Given the description of an element on the screen output the (x, y) to click on. 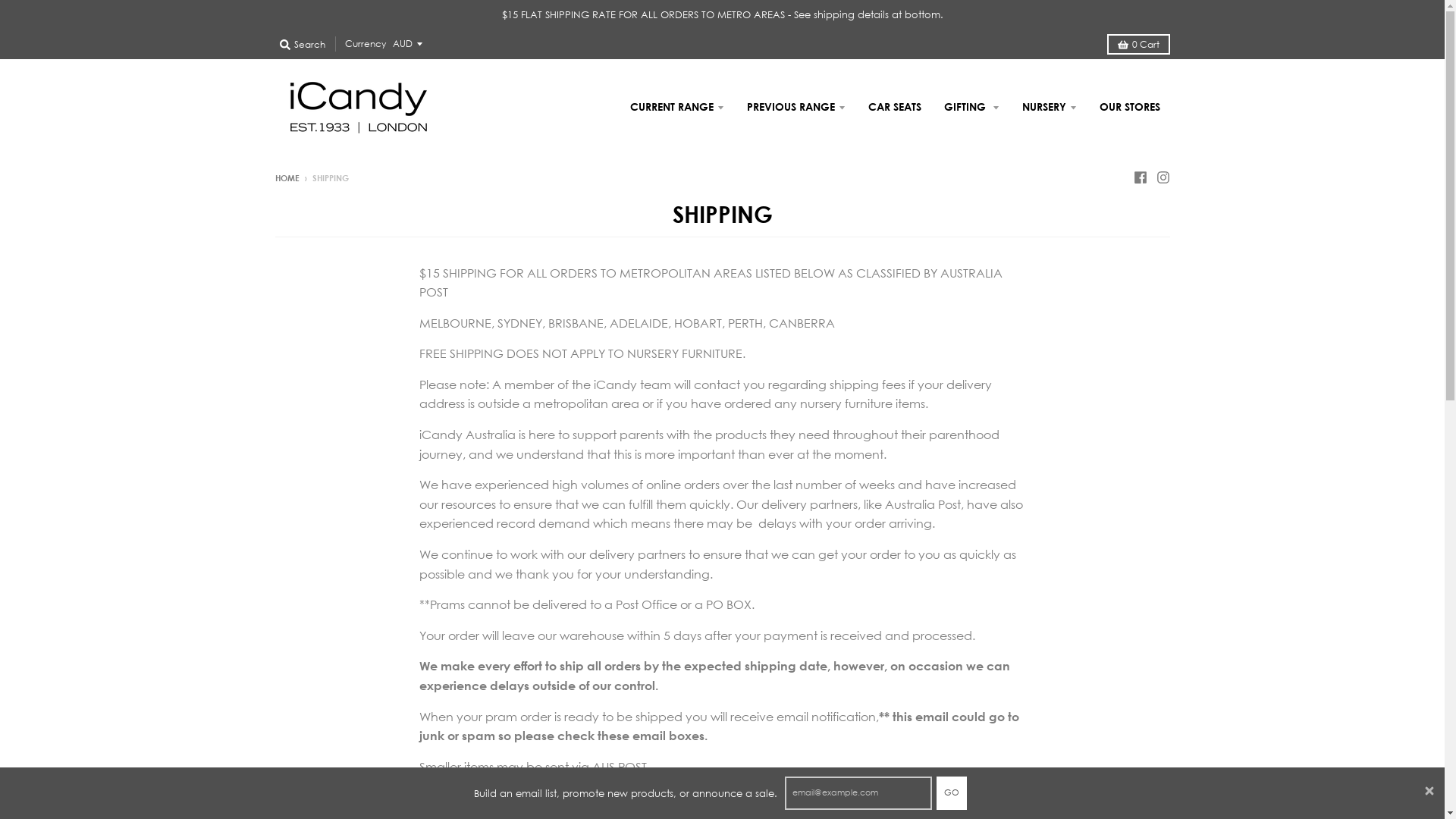
PREVIOUS RANGE Element type: text (796, 106)
HOME Element type: text (286, 177)
Instagram - iCandy Australia Element type: hover (1162, 176)
Facebook - iCandy Australia Element type: hover (1139, 176)
GO Element type: text (950, 792)
OUR STORES Element type: text (1128, 106)
GIFTING Element type: text (971, 106)
CURRENT RANGE Element type: text (677, 106)
NURSERY Element type: text (1048, 106)
0 Cart Element type: text (1138, 44)
CAR SEATS Element type: text (894, 106)
Search Element type: text (301, 44)
